Given the description of an element on the screen output the (x, y) to click on. 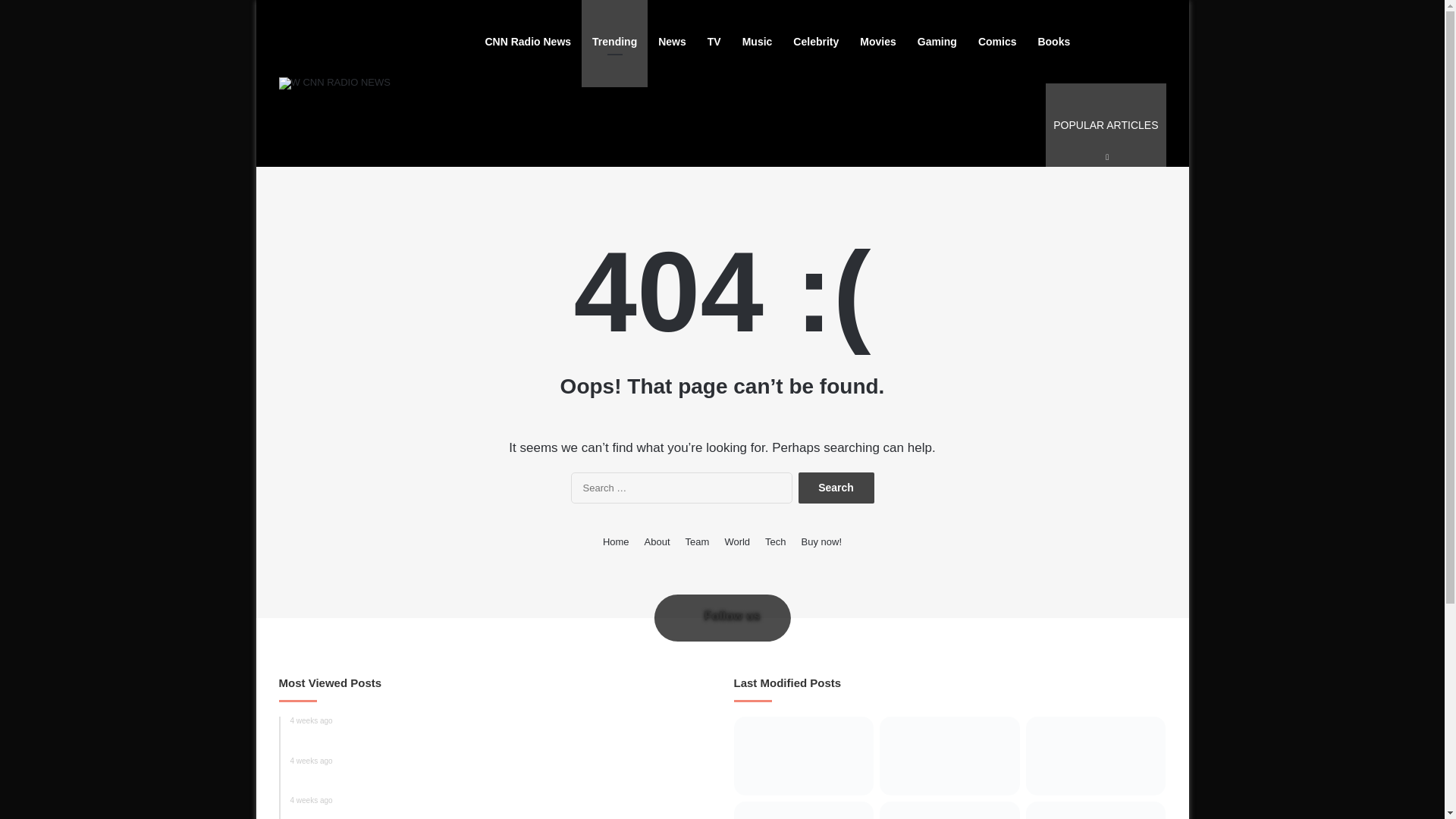
Search (835, 487)
About (499, 807)
Search (657, 541)
World (1105, 125)
Team (835, 487)
Buy now! (736, 541)
Follow us (697, 541)
